Given the description of an element on the screen output the (x, y) to click on. 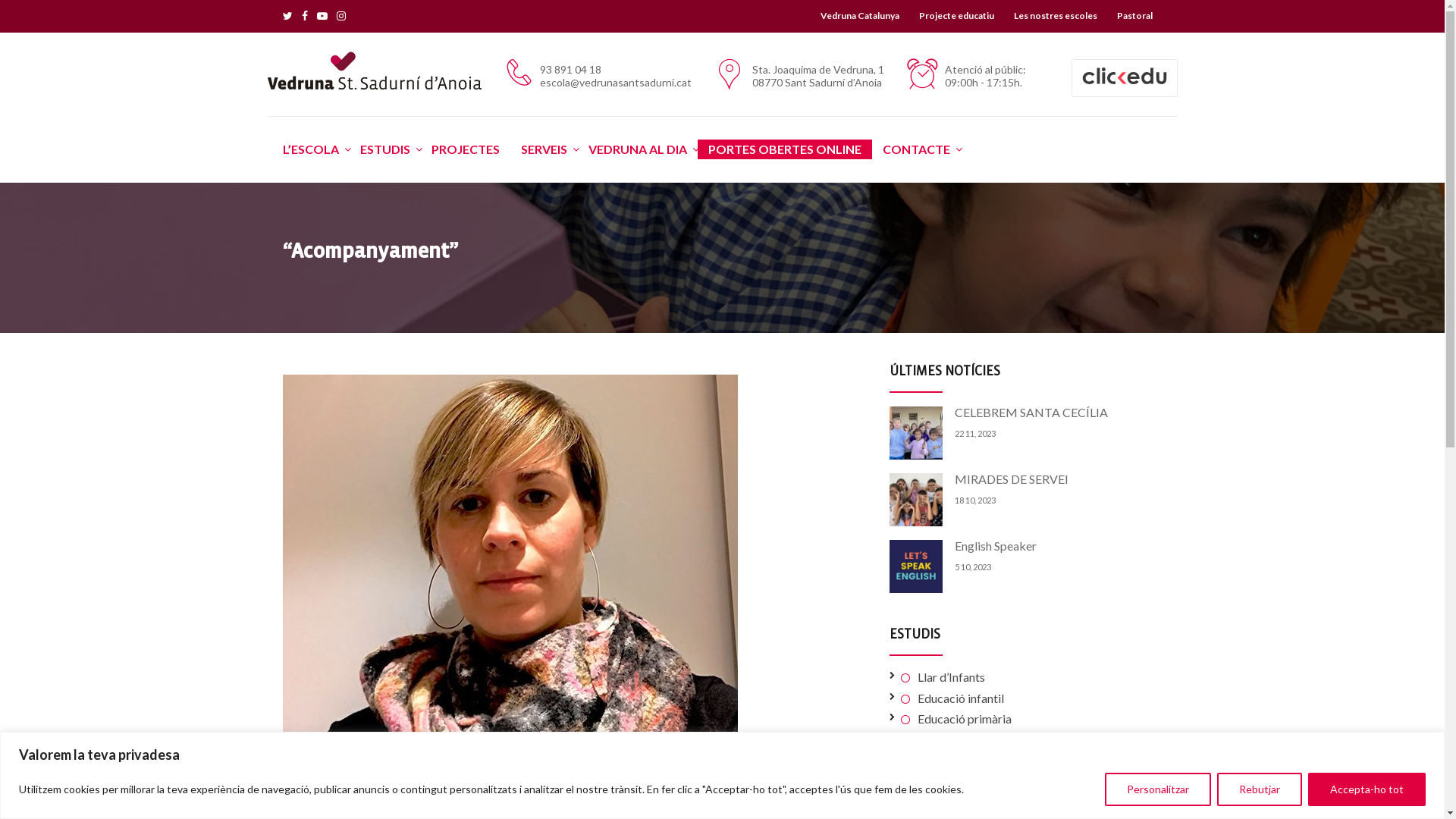
Accepta-ho tot Element type: text (1366, 788)
English Speaker Element type: text (994, 545)
PORTES OBERTES ONLINE Element type: text (784, 149)
ESTUDIS Element type: text (384, 149)
Personalitzar Element type: text (1157, 788)
PROJECTES Element type: text (464, 149)
MIRADES DE SERVEI Element type: hover (914, 498)
Projecte educatiu Element type: text (955, 15)
Rebutjar Element type: text (1259, 788)
CONTACTE Element type: text (916, 149)
SERVEIS Element type: text (543, 149)
VEDRUNA AL DIA Element type: text (637, 149)
English Speaker Element type: hover (914, 565)
MIRADES DE SERVEI Element type: text (1010, 478)
Pastoral Element type: text (1134, 15)
Vedruna Catalunya Element type: text (858, 15)
Les nostres escoles Element type: text (1055, 15)
